Given the description of an element on the screen output the (x, y) to click on. 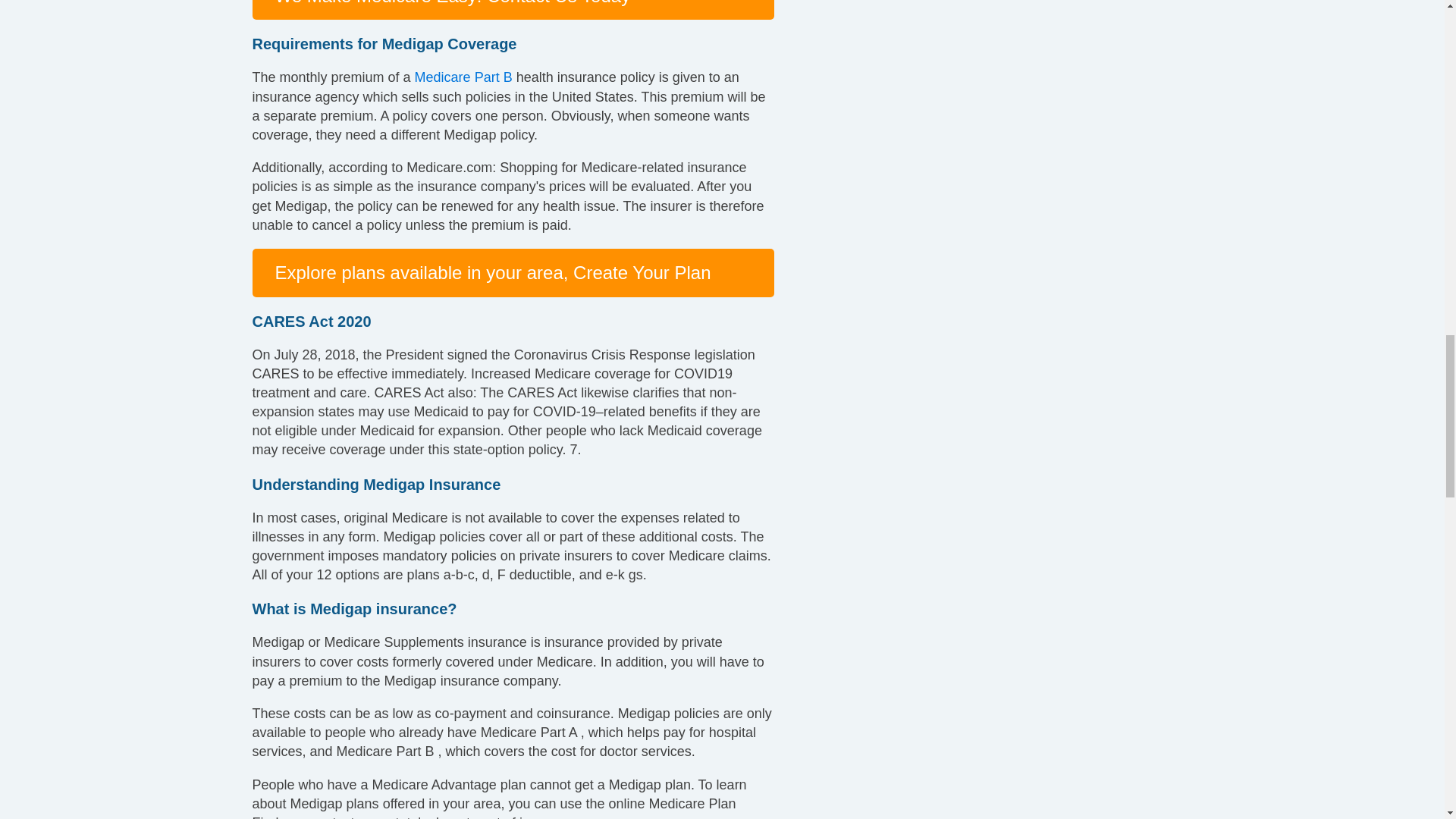
We Make Medicare Easy! Contact Us Today (452, 2)
Medicare Part B (463, 77)
Explore plans available in your area, Create Your Plan (492, 272)
